Given the description of an element on the screen output the (x, y) to click on. 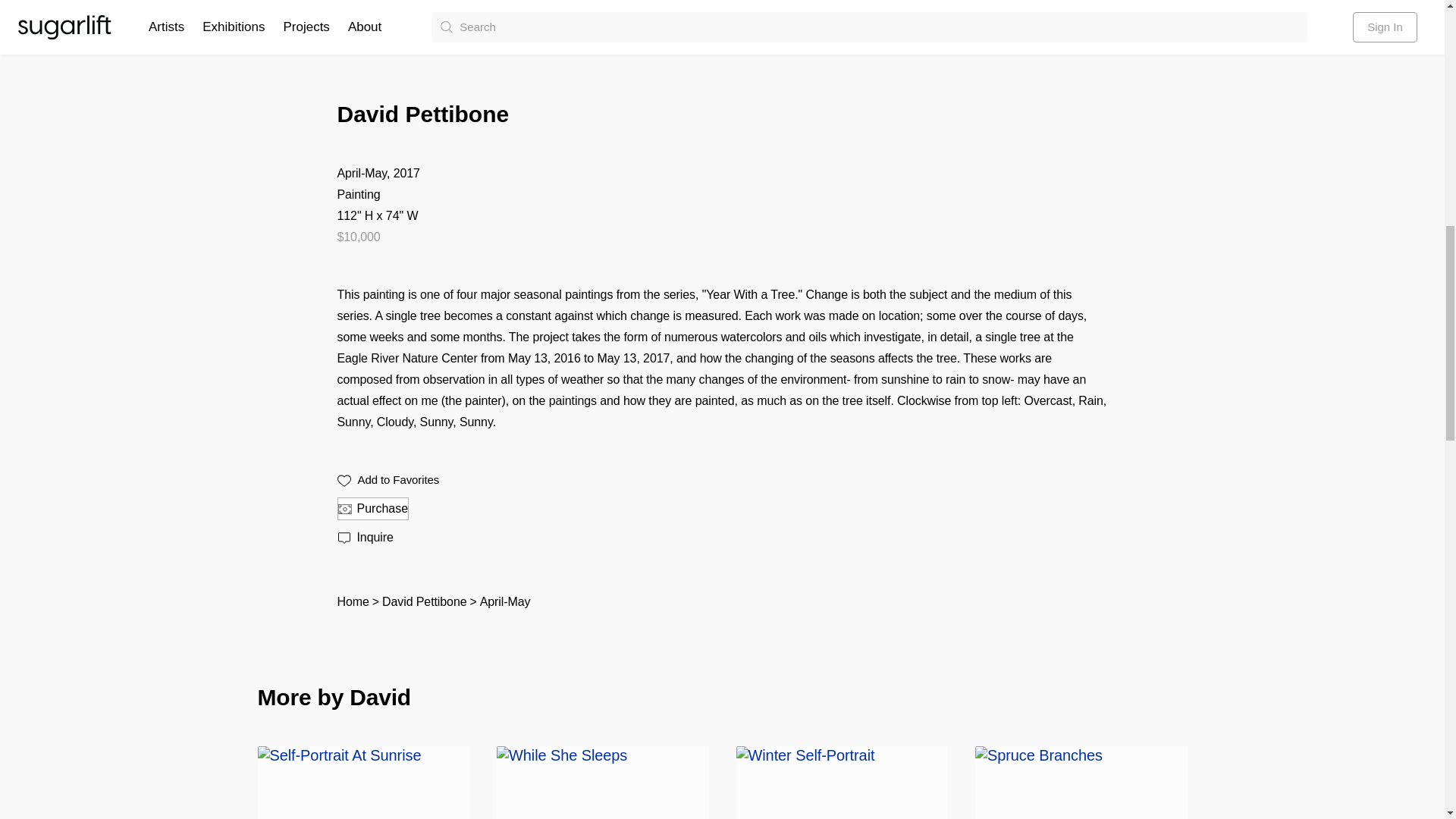
David Pettibone (423, 601)
David Pettibone (721, 114)
April-May (505, 601)
Home (352, 601)
Purchase (372, 508)
